Given the description of an element on the screen output the (x, y) to click on. 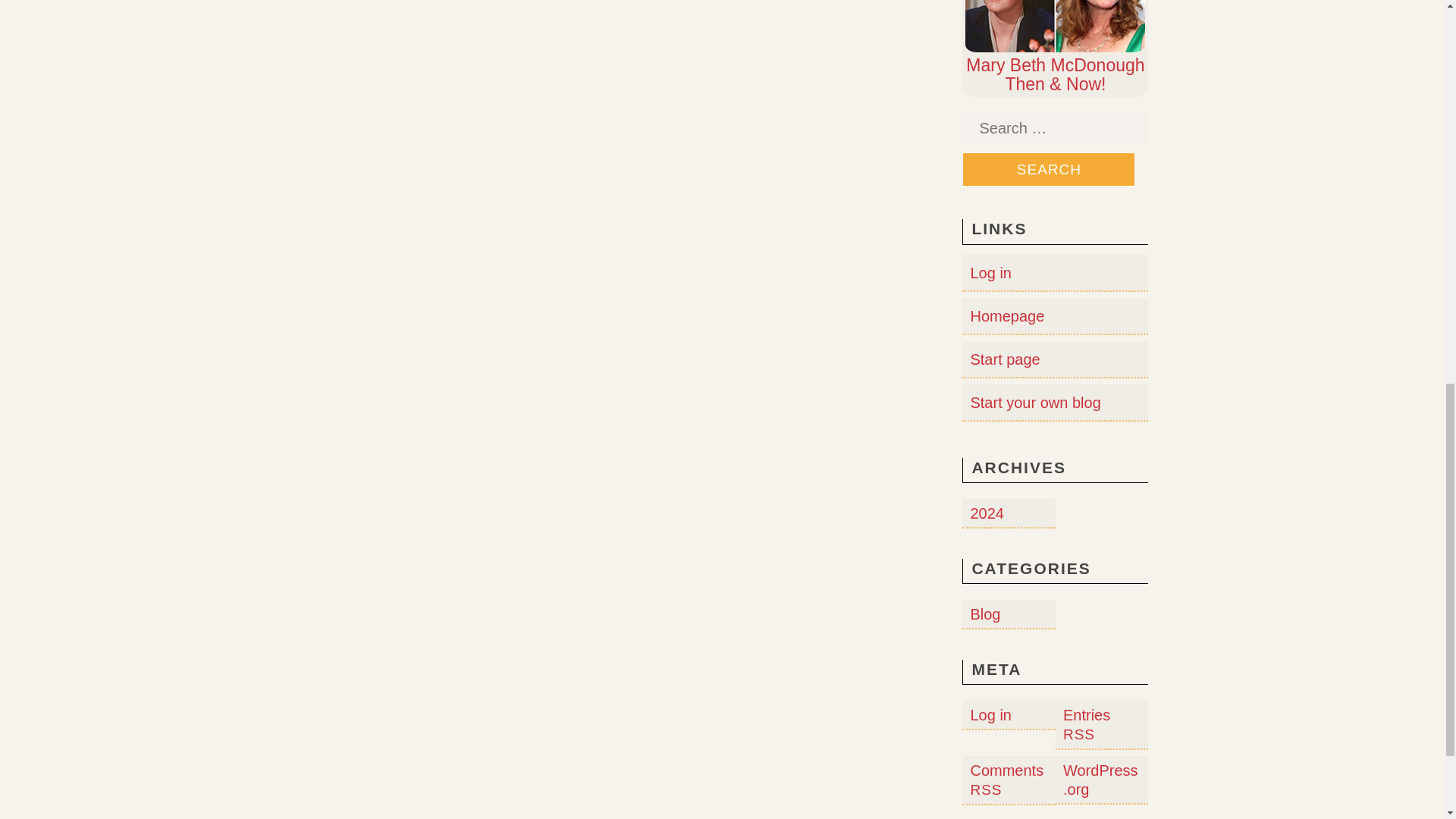
Comments RSS (1006, 779)
WordPress.org (1100, 779)
Log in (990, 714)
Homepage (1006, 315)
Log in (990, 272)
Blog (984, 614)
2024 (986, 513)
Search (1048, 169)
Search (1048, 169)
Entries RSS (1085, 724)
Start your own blog (1034, 402)
Search (1048, 169)
Start page (1004, 359)
Really Simple Syndication (1078, 734)
